Given the description of an element on the screen output the (x, y) to click on. 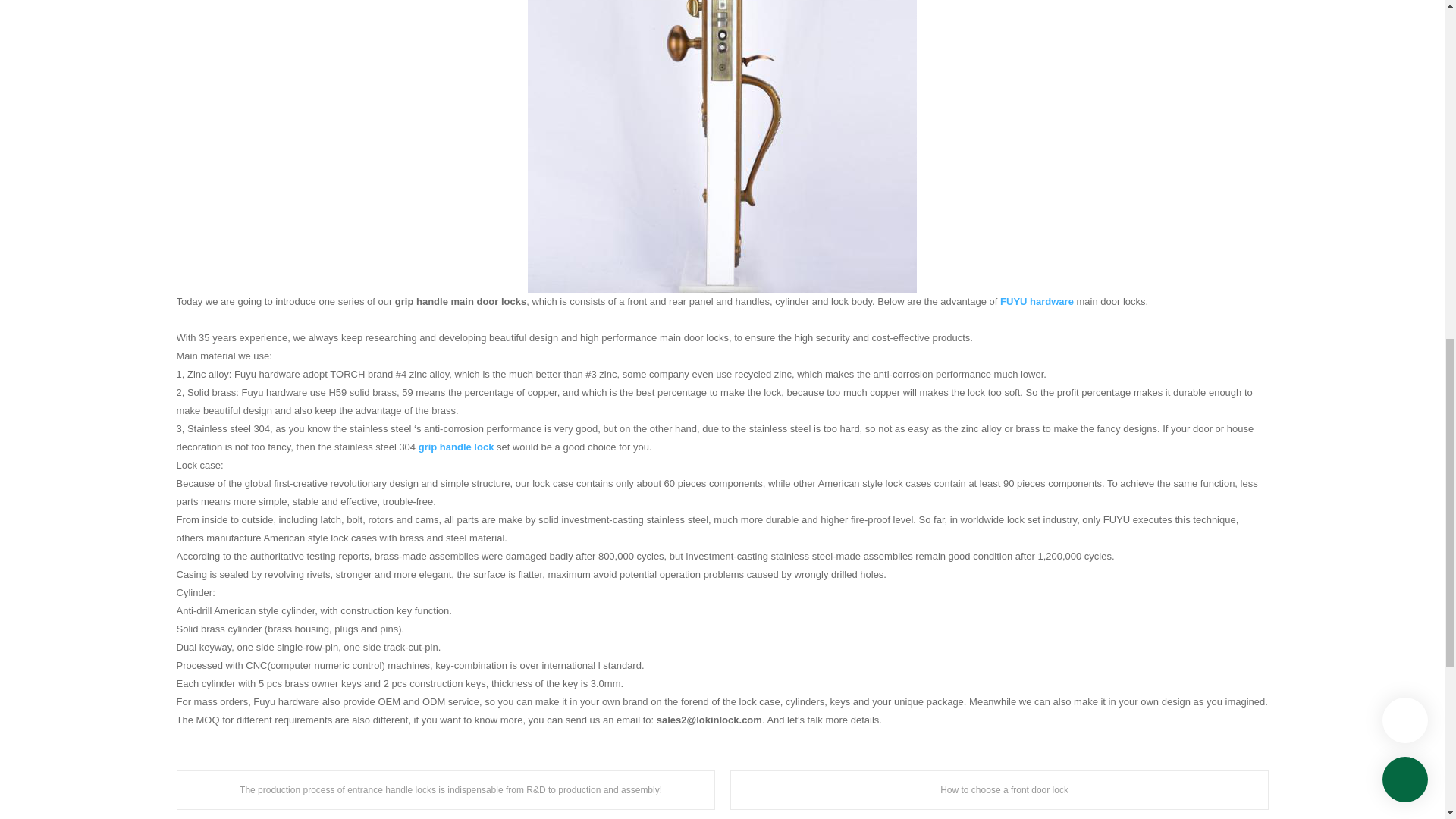
grip handle lock (457, 446)
How to choose a front door lock (998, 789)
How to choose a front door lock (998, 789)
FUYU hardware (1037, 301)
